Given the description of an element on the screen output the (x, y) to click on. 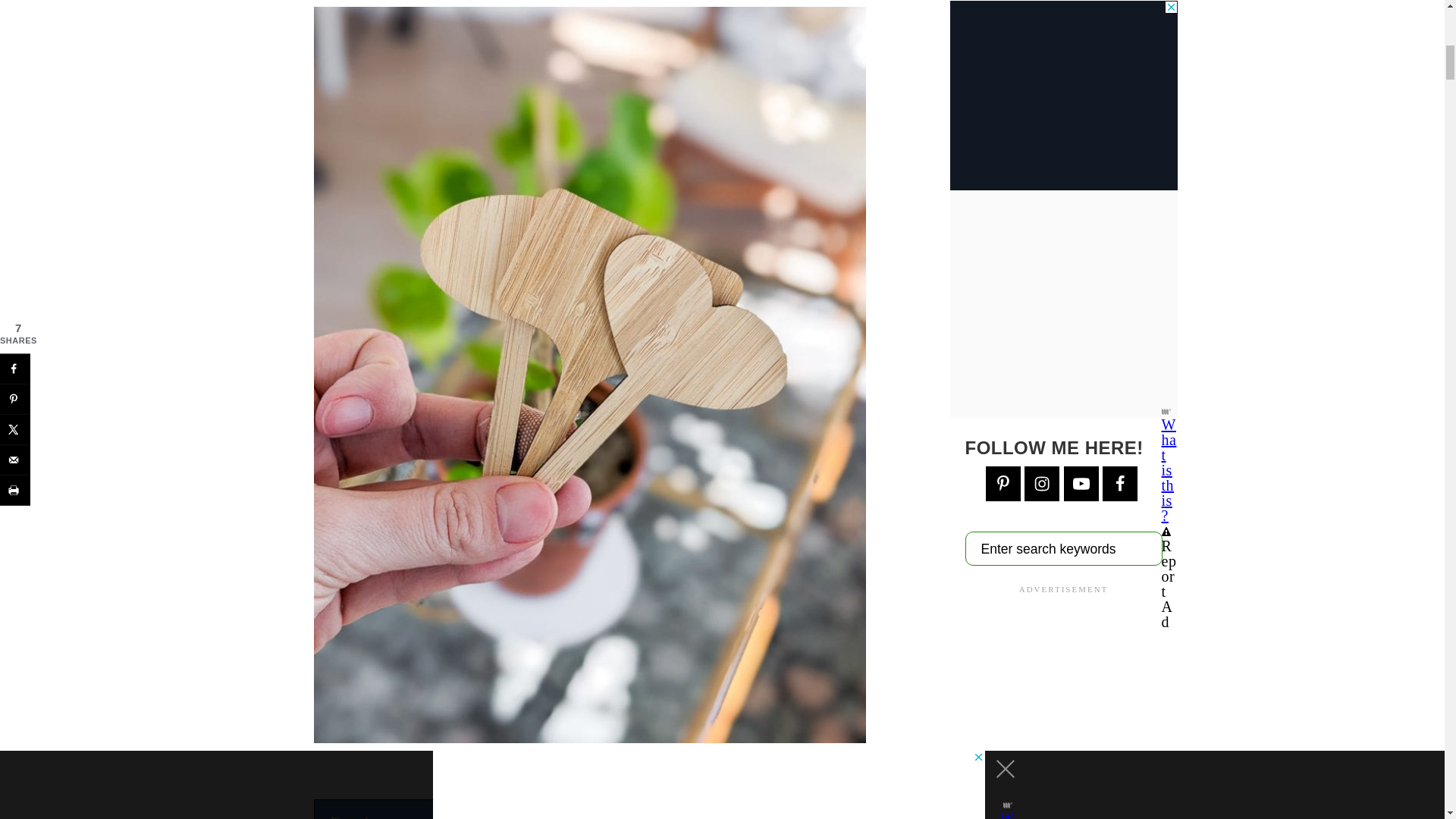
3rd party ad content (590, 809)
